Given the description of an element on the screen output the (x, y) to click on. 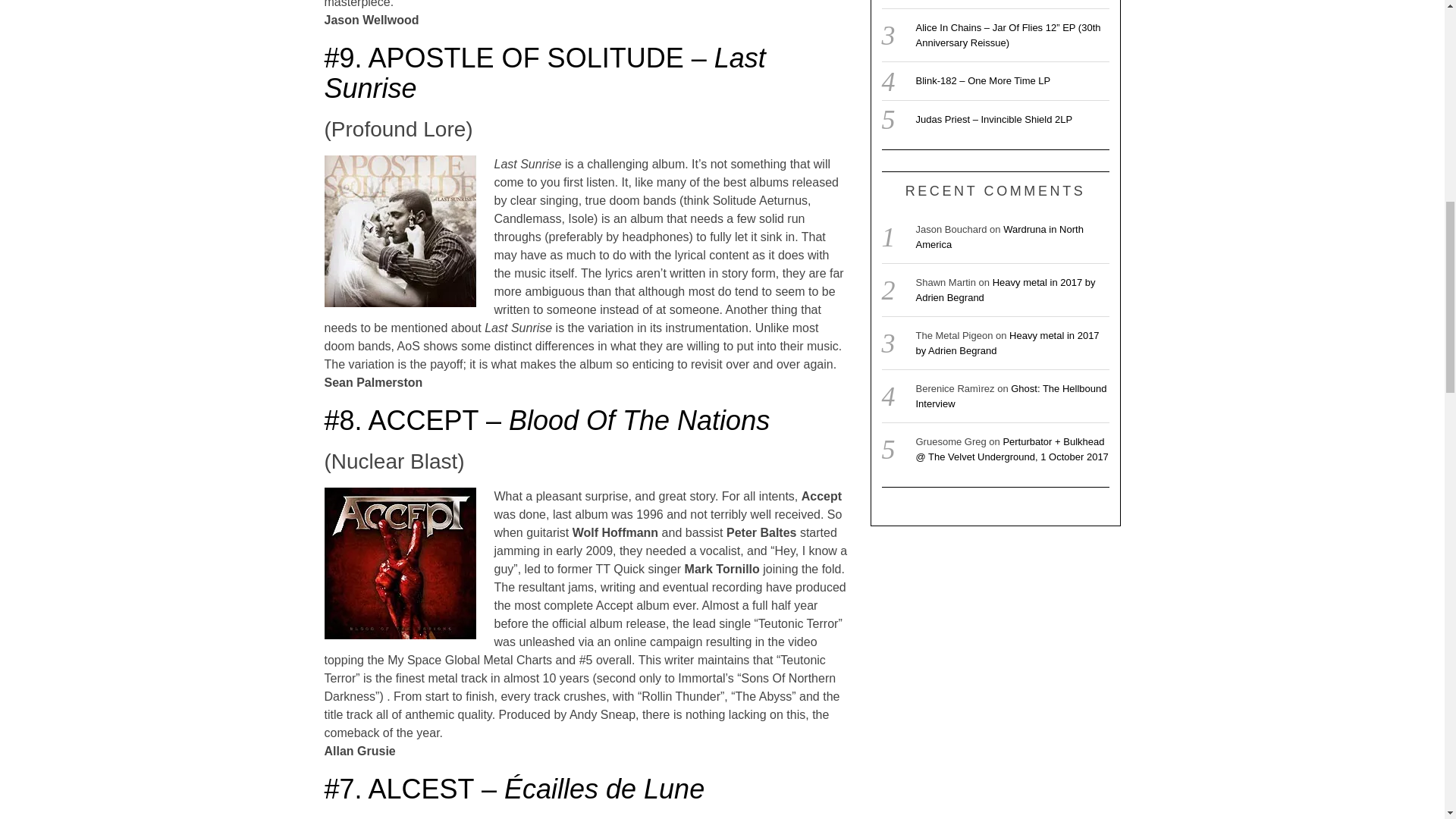
08 (400, 563)
9 (400, 231)
